Given the description of an element on the screen output the (x, y) to click on. 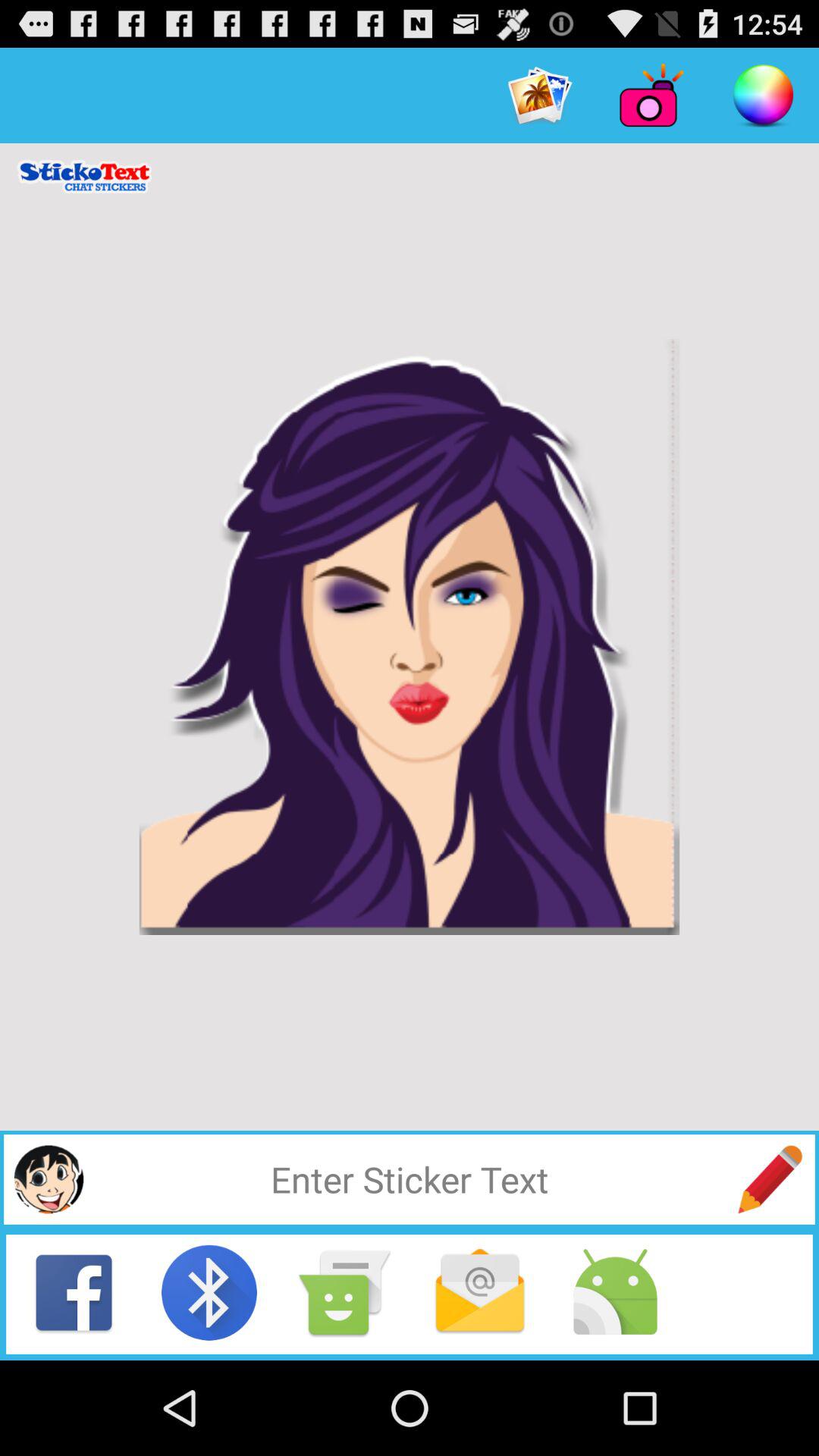
choose item at the top (540, 95)
